Given the description of an element on the screen output the (x, y) to click on. 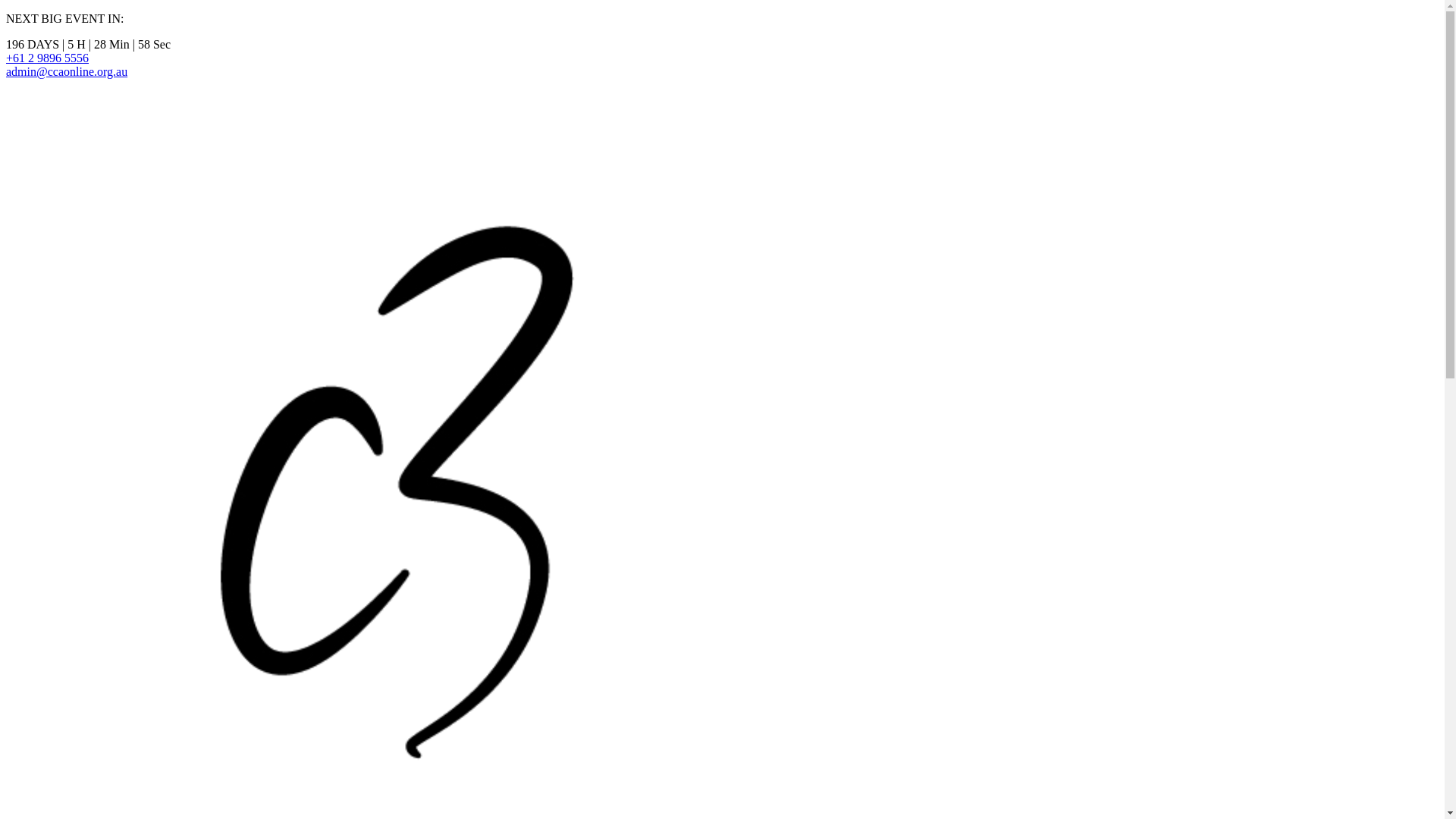
admin@ccaonline.org.au Element type: text (66, 71)
+61 2 9896 5556 Element type: text (47, 57)
